Given the description of an element on the screen output the (x, y) to click on. 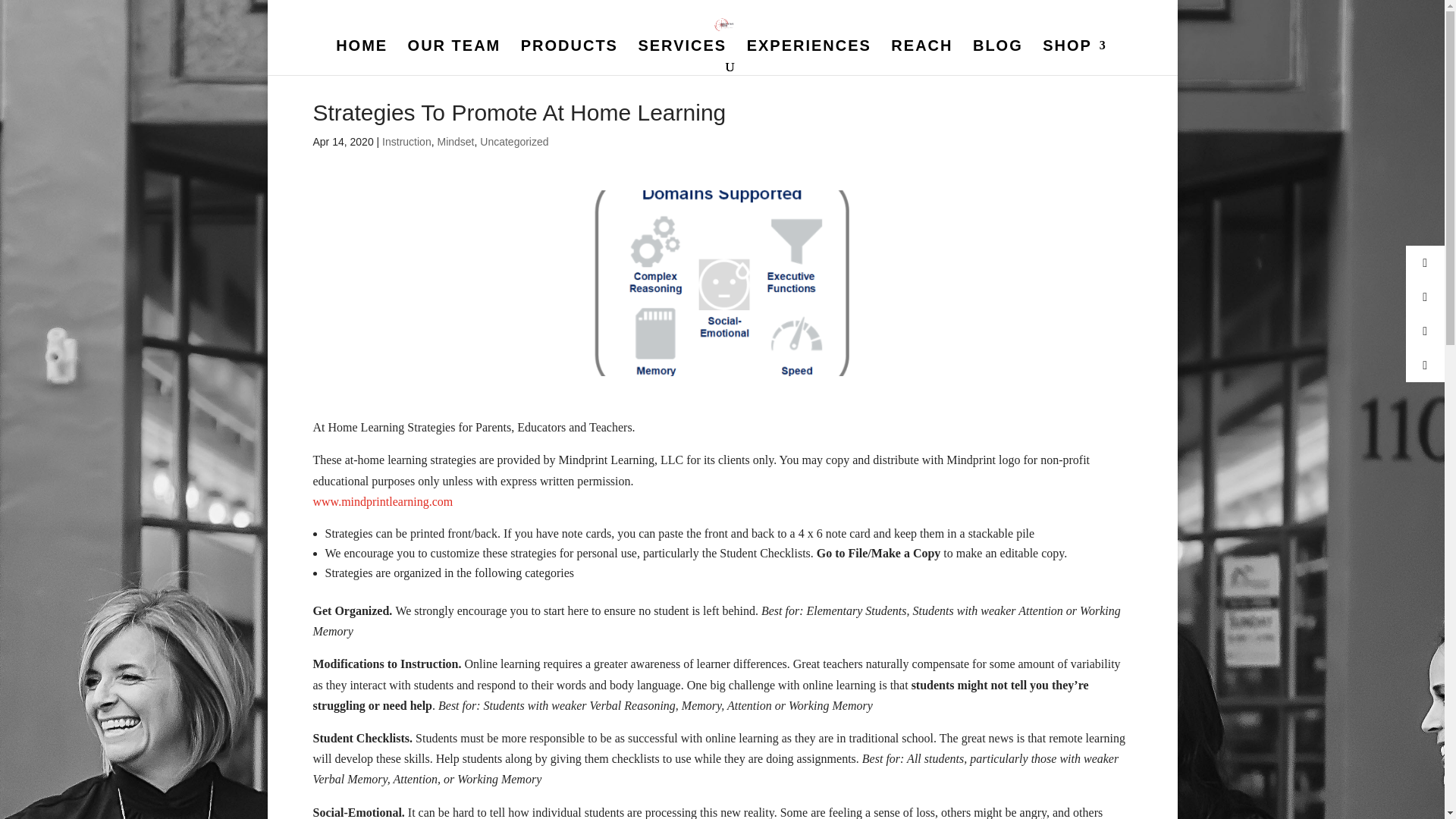
REACH (921, 48)
SERVICES (681, 48)
SHOP (1074, 48)
BLOG (997, 48)
OUR TEAM (453, 48)
www.mindprintlearning.com (382, 501)
EXPERIENCES (808, 48)
PRODUCTS (569, 48)
team (453, 48)
Instruction (405, 141)
HOME (361, 48)
Uncategorized (514, 141)
Mindset (455, 141)
